Given the description of an element on the screen output the (x, y) to click on. 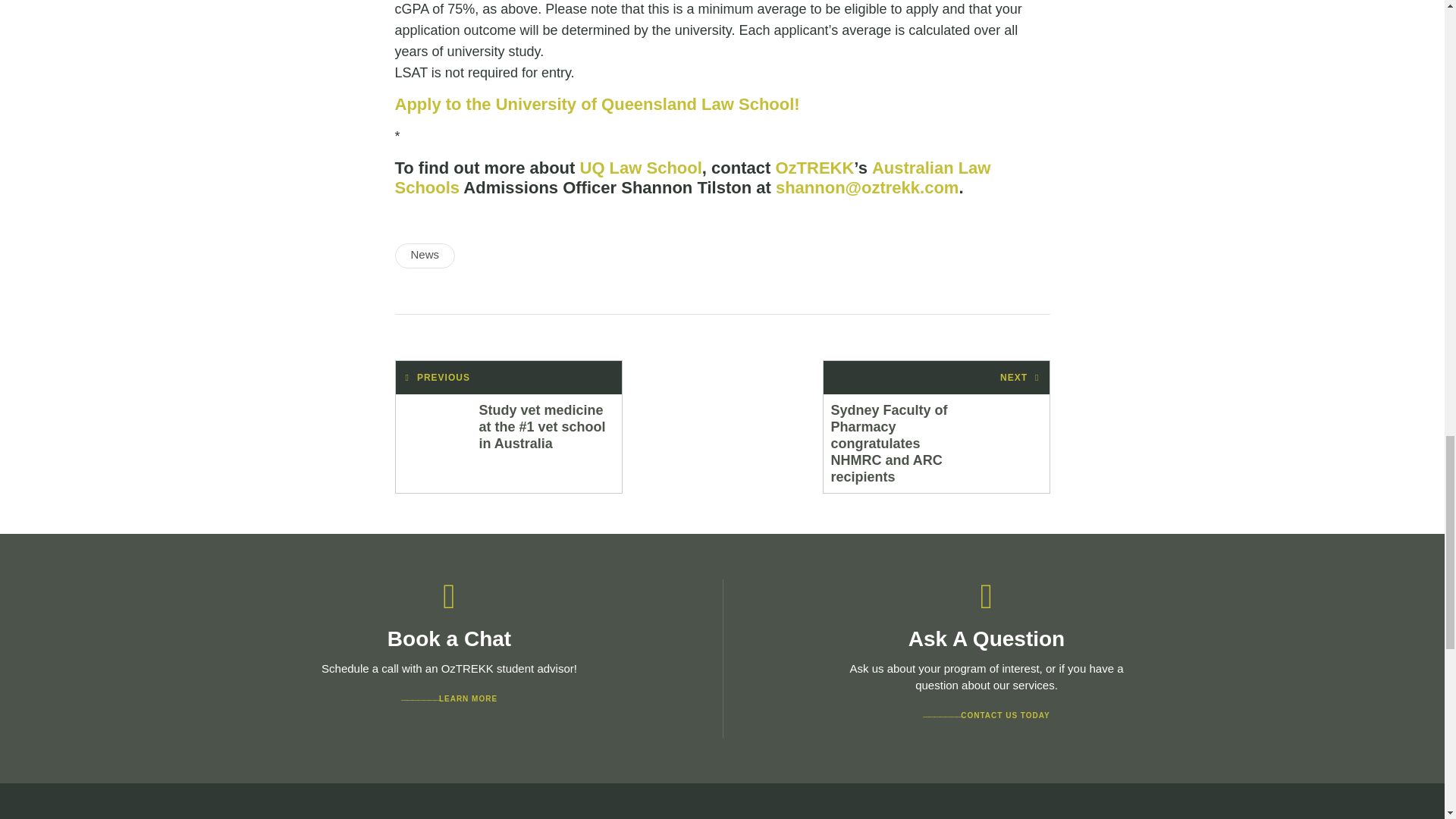
OzTREKK - Your Canadian Connection to Study Law in Australia (813, 167)
Discover more about Australian law schools (692, 177)
Learn more about University of Queensland Law School (640, 167)
Apply to the University of Queensland Law School! (596, 104)
